Given the description of an element on the screen output the (x, y) to click on. 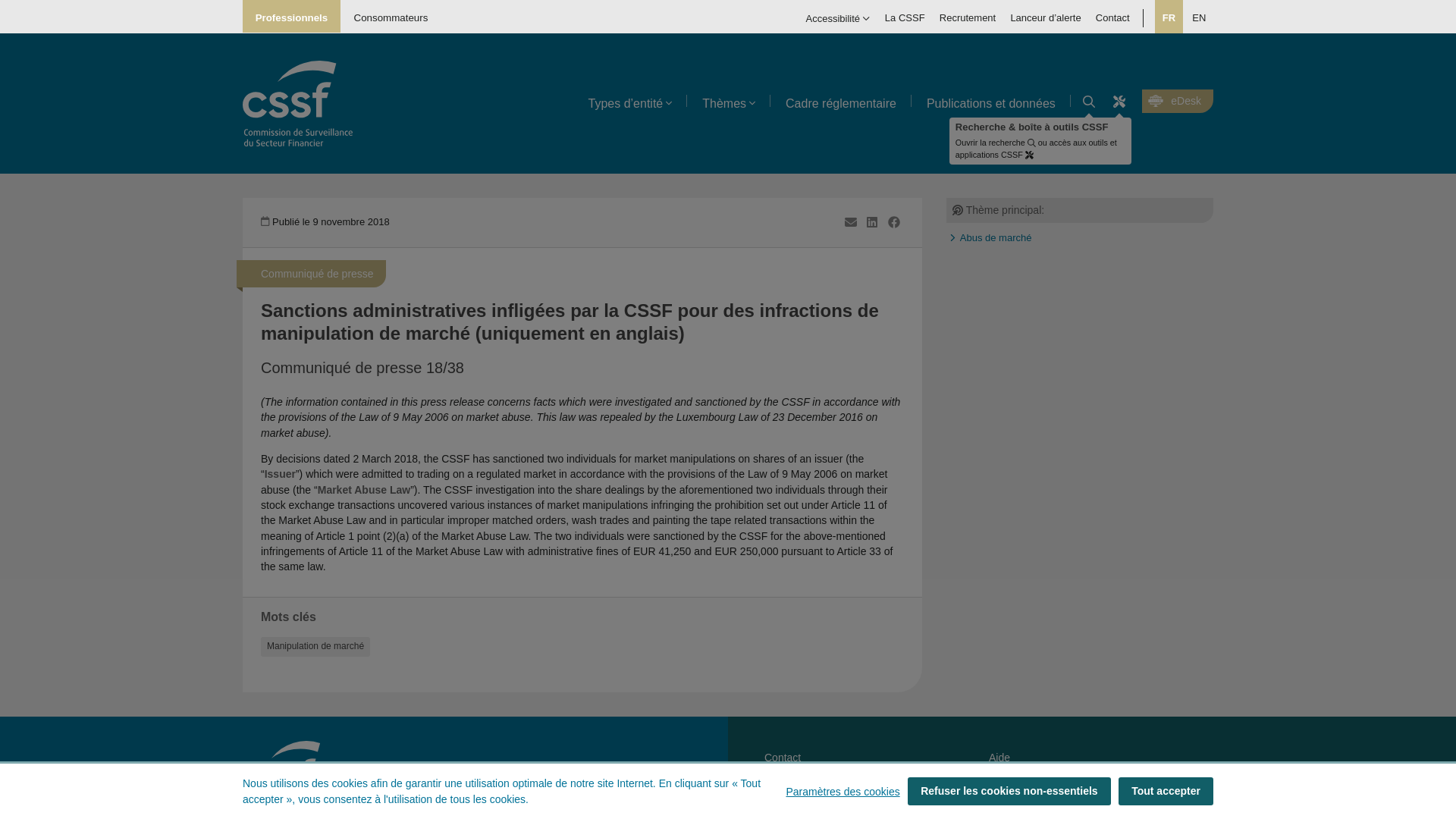
Refuser les cookies non-essentiels (1008, 791)
Recrutement (967, 16)
Partager sur Facebook (893, 222)
Consommateurs (390, 16)
La CSSF (904, 16)
Envoyer par email (850, 222)
Partager sur LinkedIn (871, 222)
Professionnels (291, 16)
eDesk (1176, 101)
Tout accepter (1165, 791)
Contact (1112, 16)
